Given the description of an element on the screen output the (x, y) to click on. 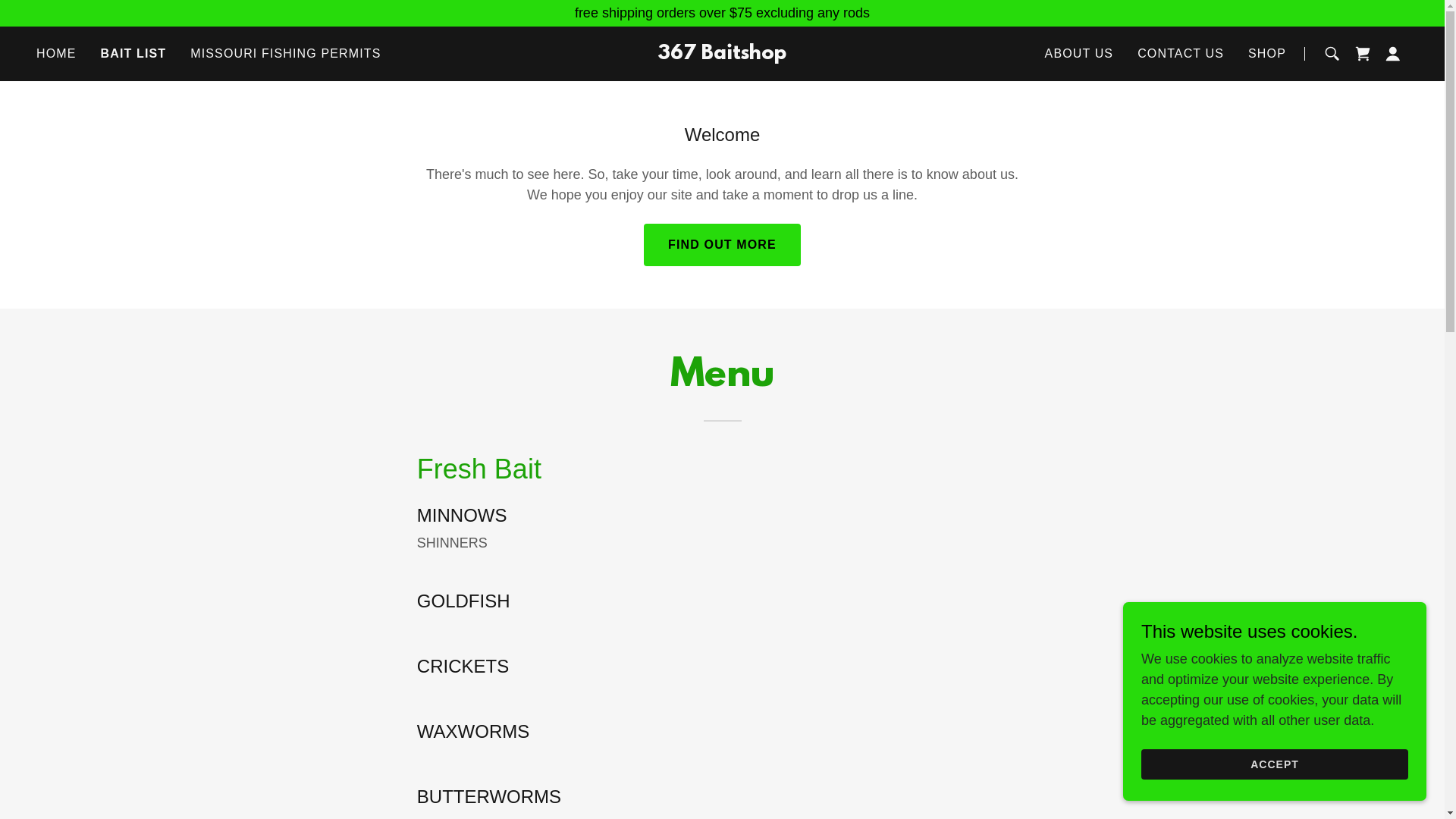
ACCEPT Element type: text (1274, 764)
MISSOURI FISHING PERMITS Element type: text (285, 53)
SHOP Element type: text (1266, 53)
BAIT LIST Element type: text (133, 53)
ABOUT US Element type: text (1079, 53)
FIND OUT MORE Element type: text (721, 244)
CONTACT US Element type: text (1180, 53)
HOME Element type: text (56, 53)
367 Baitshop Element type: text (721, 54)
